Given the description of an element on the screen output the (x, y) to click on. 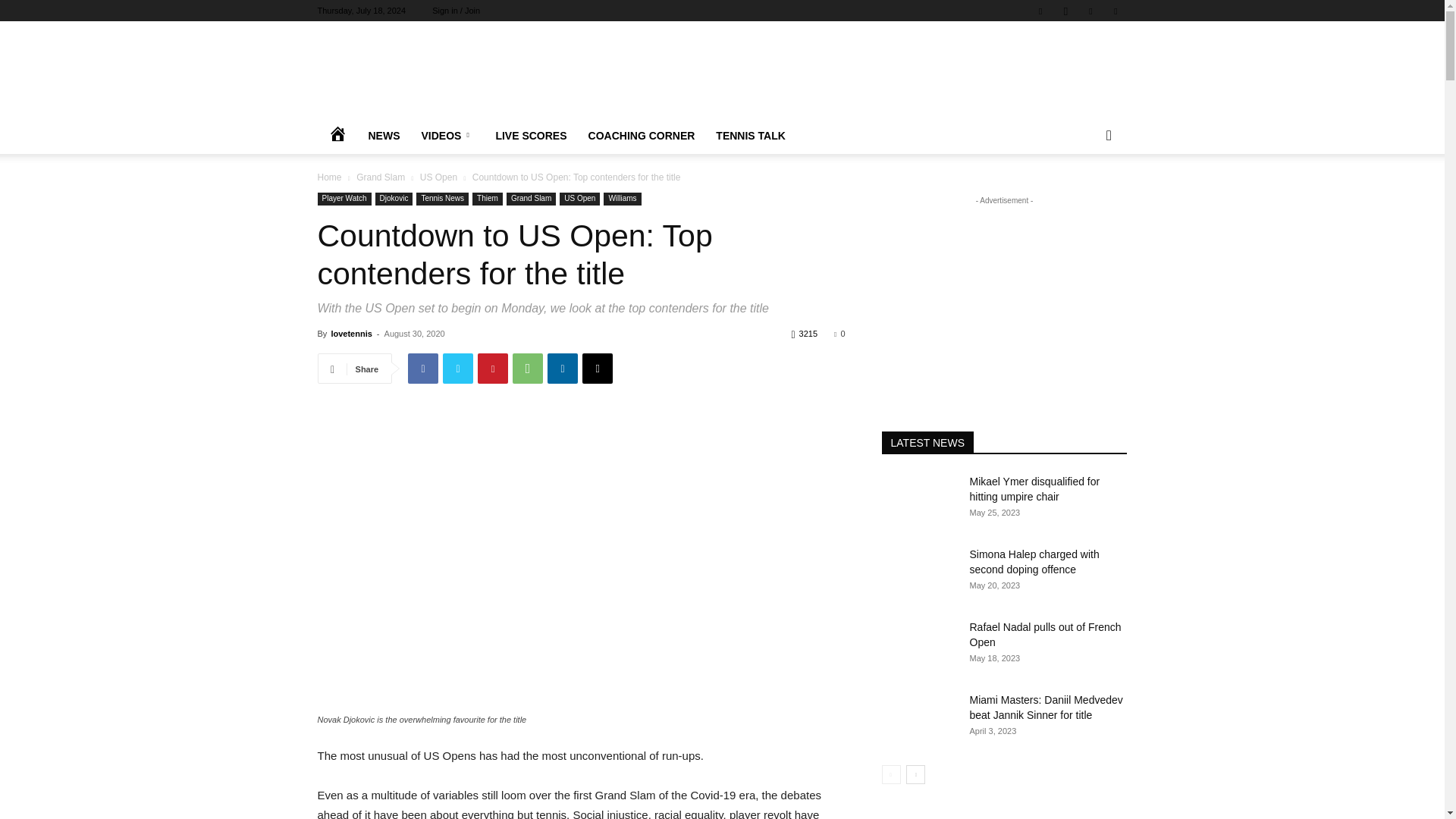
Facebook (1040, 10)
Instagram (1065, 10)
NEWS (384, 135)
Youtube (1114, 10)
Twitter (1090, 10)
VIDEOS (447, 135)
HOME (336, 135)
